Given the description of an element on the screen output the (x, y) to click on. 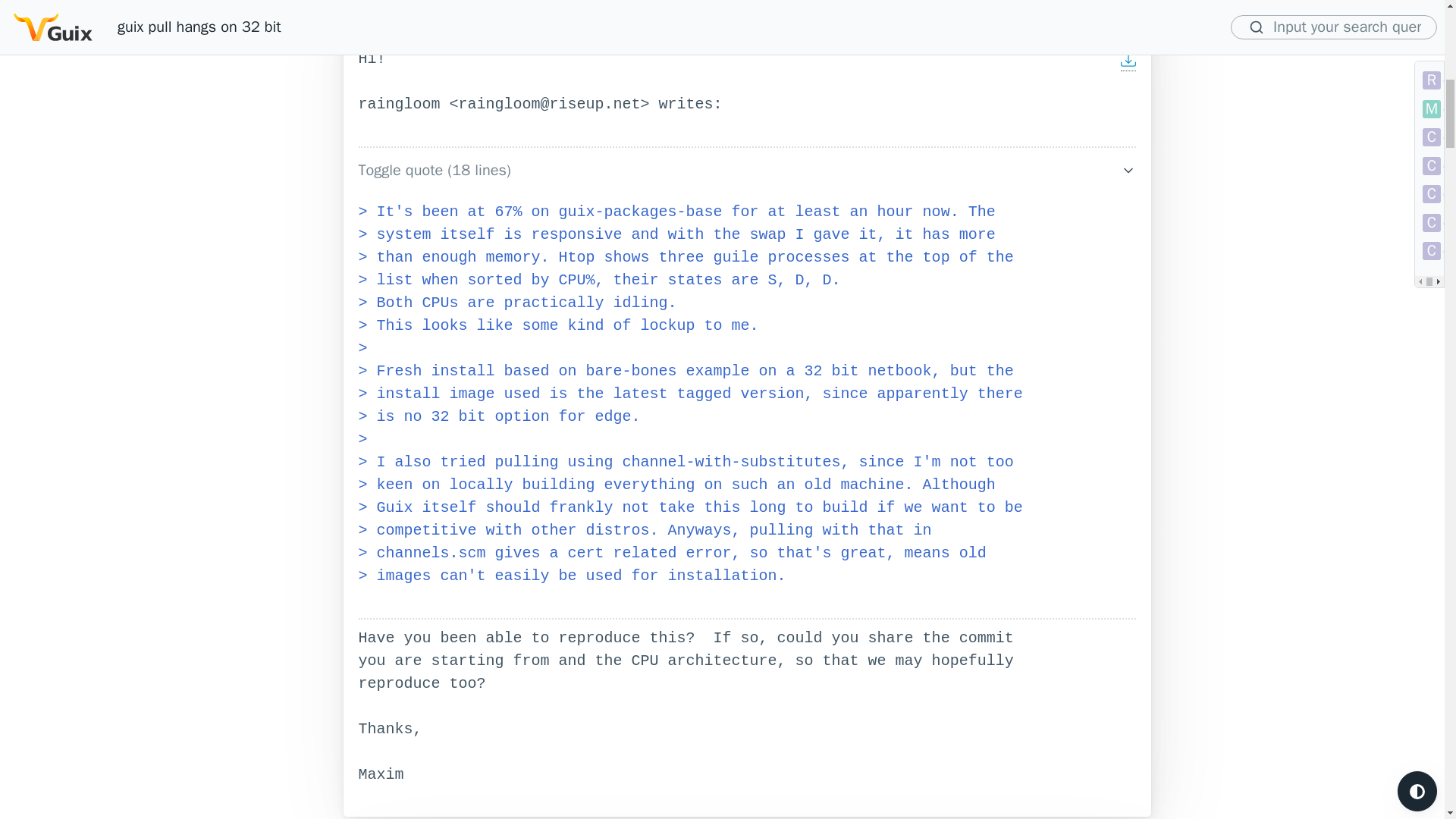
on 8 Jun 2022 22:24 (589, 1)
Wed Jun 08 16:24:27-0400 2022 (589, 1)
